Given the description of an element on the screen output the (x, y) to click on. 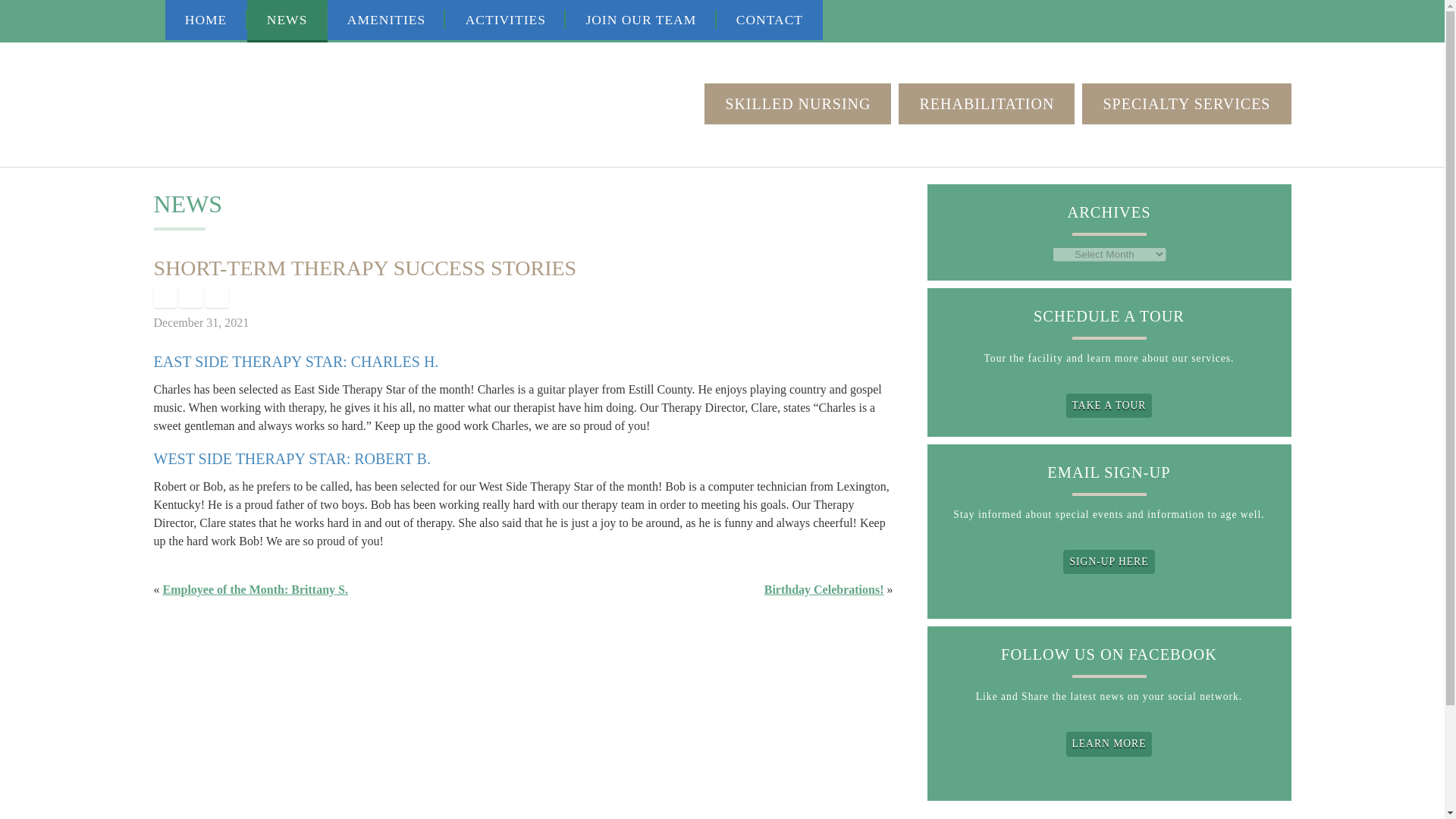
ACTIVITIES (505, 20)
SPECIALTY SERVICES (1185, 103)
REHABILITATION (986, 103)
HOME (206, 20)
Search (1281, 20)
JOIN OUR TEAM (641, 20)
CONTACT (770, 20)
NEWS (287, 21)
TAKE A TOUR (1109, 405)
SIGN-UP HERE (1108, 561)
Search (1281, 20)
AMENITIES (386, 20)
LEARN MORE (1109, 743)
Employee of the Month: Brittany S. (254, 589)
SKILLED NURSING (797, 103)
